Given the description of an element on the screen output the (x, y) to click on. 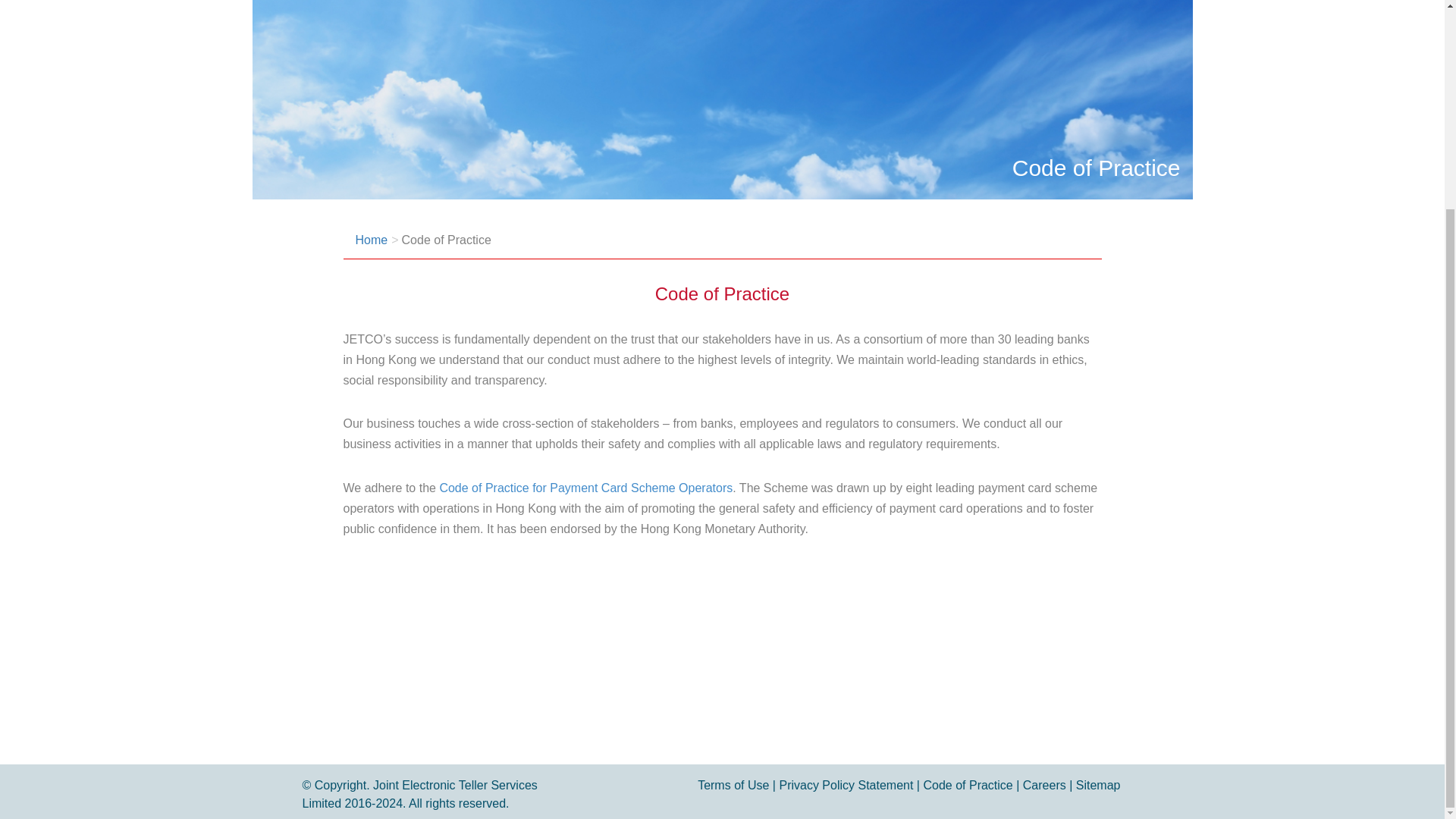
Code of Practice (446, 239)
